Given the description of an element on the screen output the (x, y) to click on. 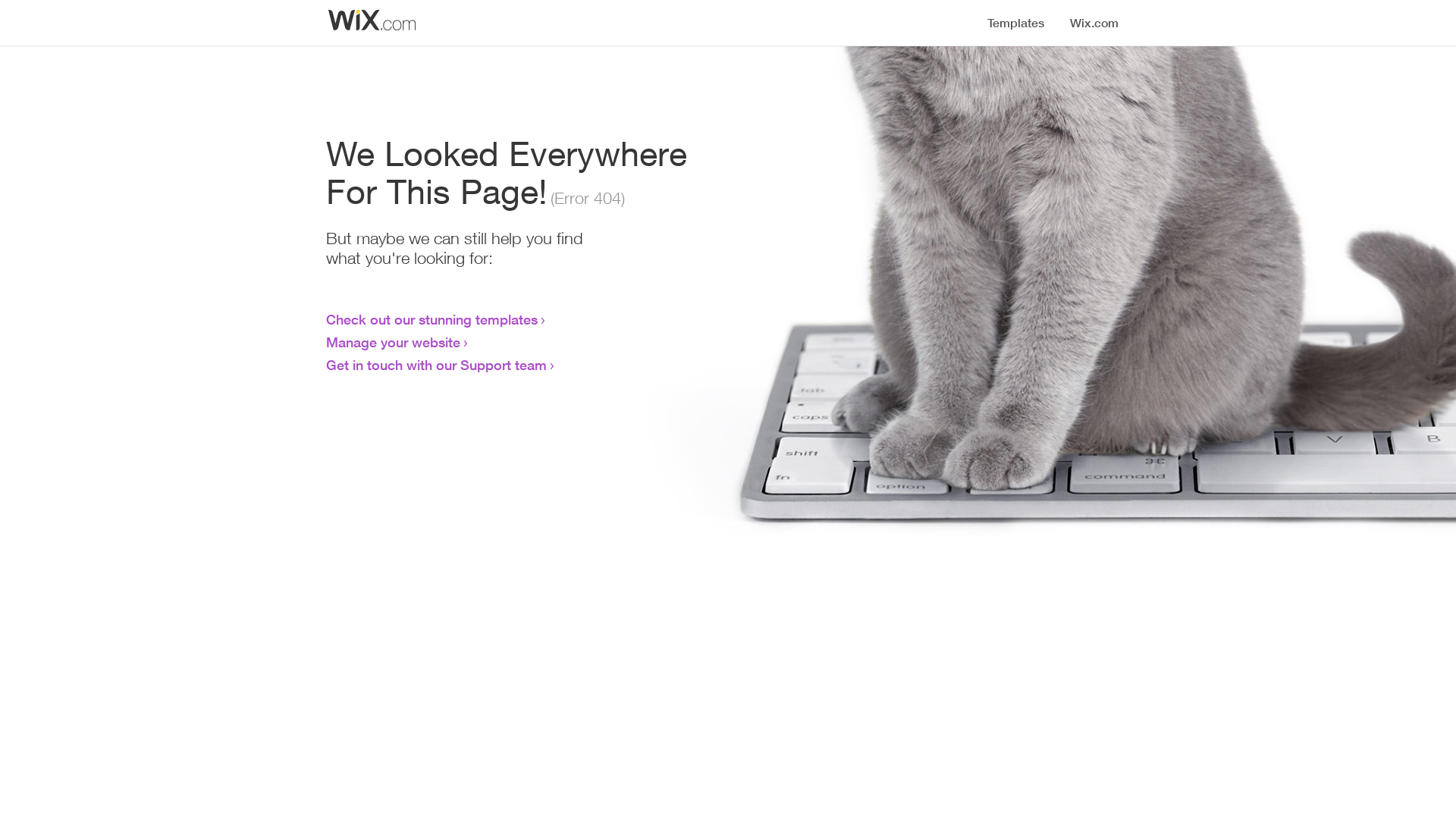
Check out our stunning templates Element type: text (431, 318)
Manage your website Element type: text (393, 341)
Get in touch with our Support team Element type: text (436, 364)
